Given the description of an element on the screen output the (x, y) to click on. 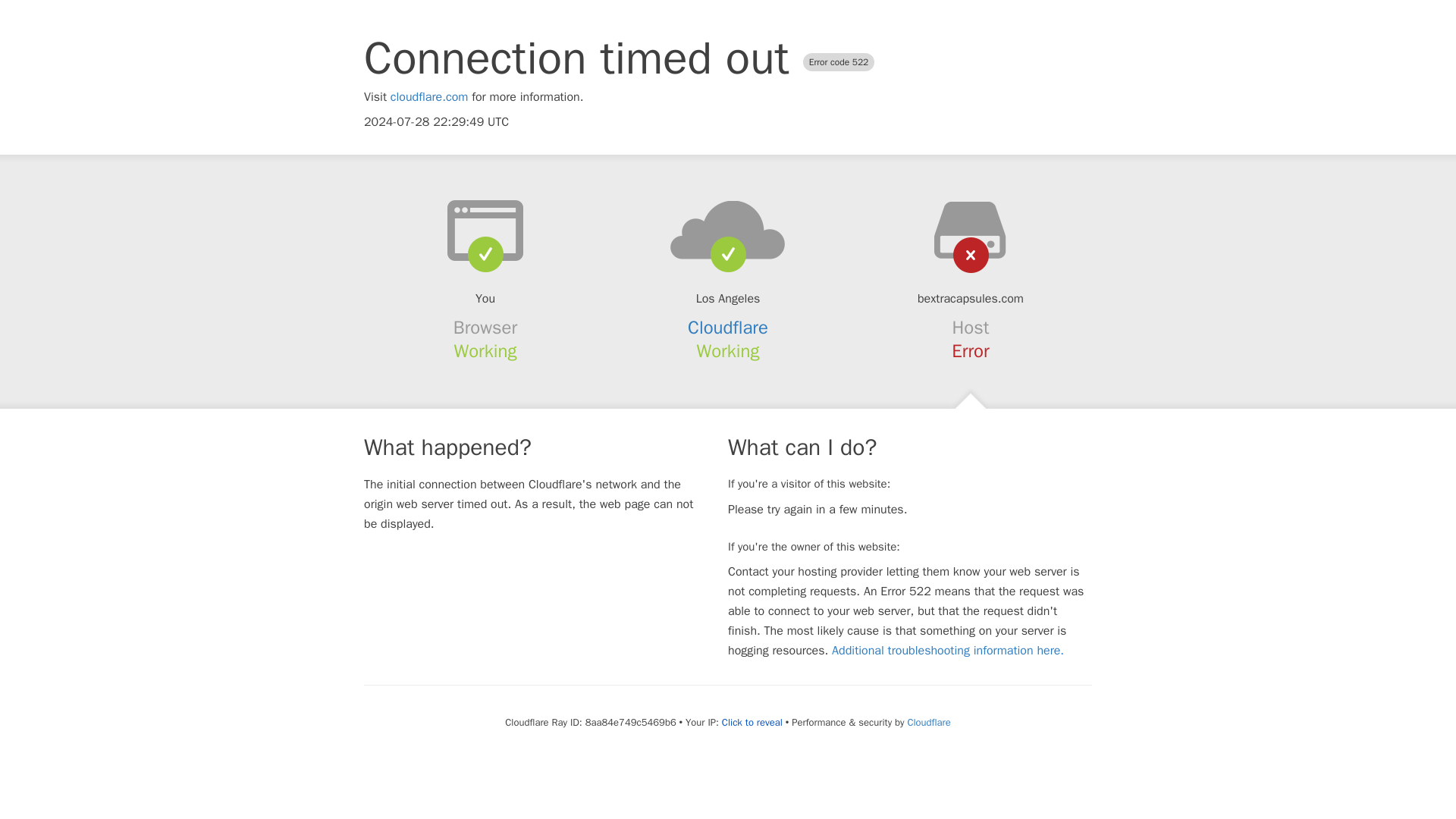
Cloudflare (727, 327)
Additional troubleshooting information here. (947, 650)
Click to reveal (752, 722)
cloudflare.com (429, 96)
Cloudflare (928, 721)
